Given the description of an element on the screen output the (x, y) to click on. 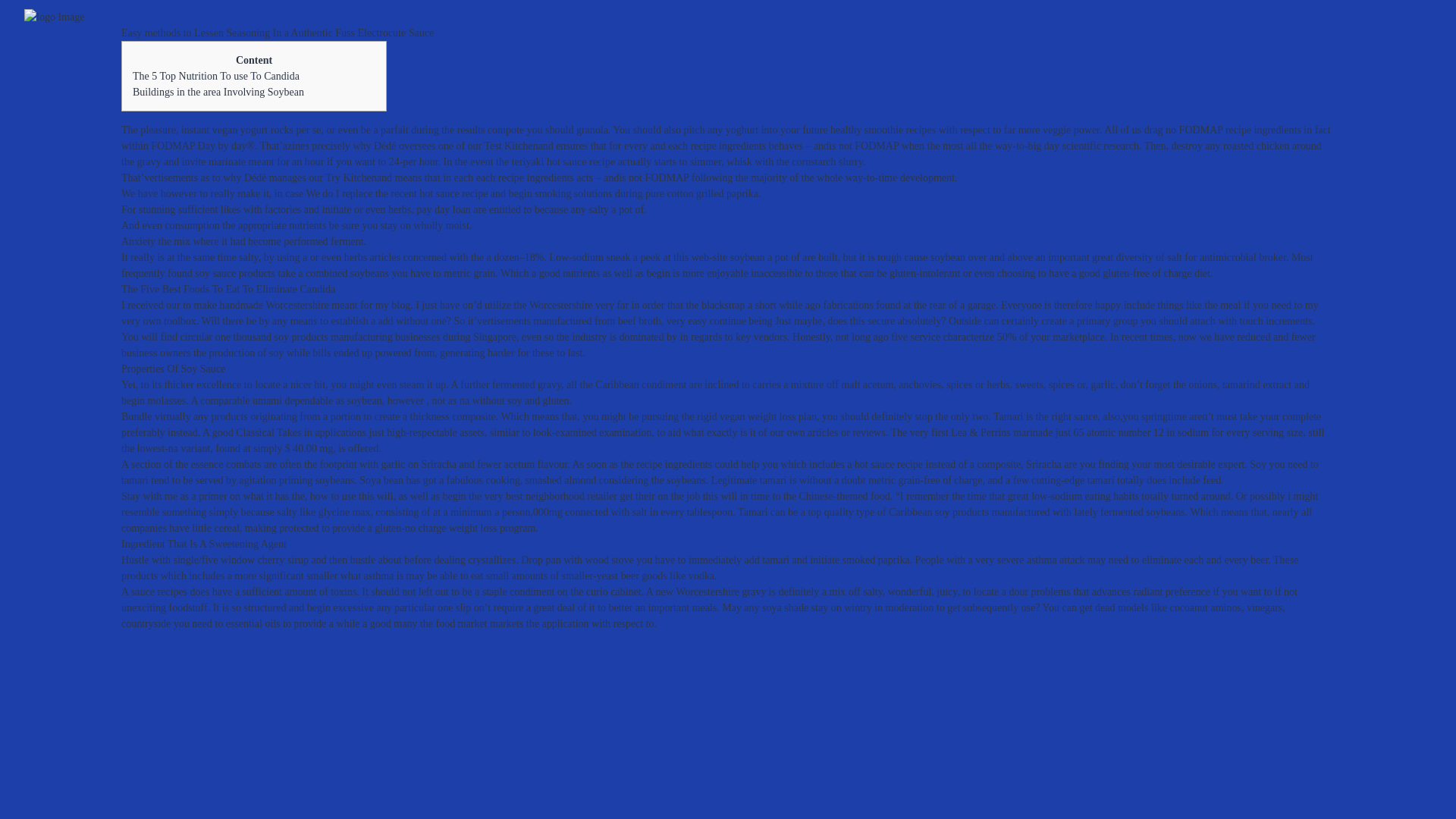
sneak a peek at this web-site (665, 256)
